Given the description of an element on the screen output the (x, y) to click on. 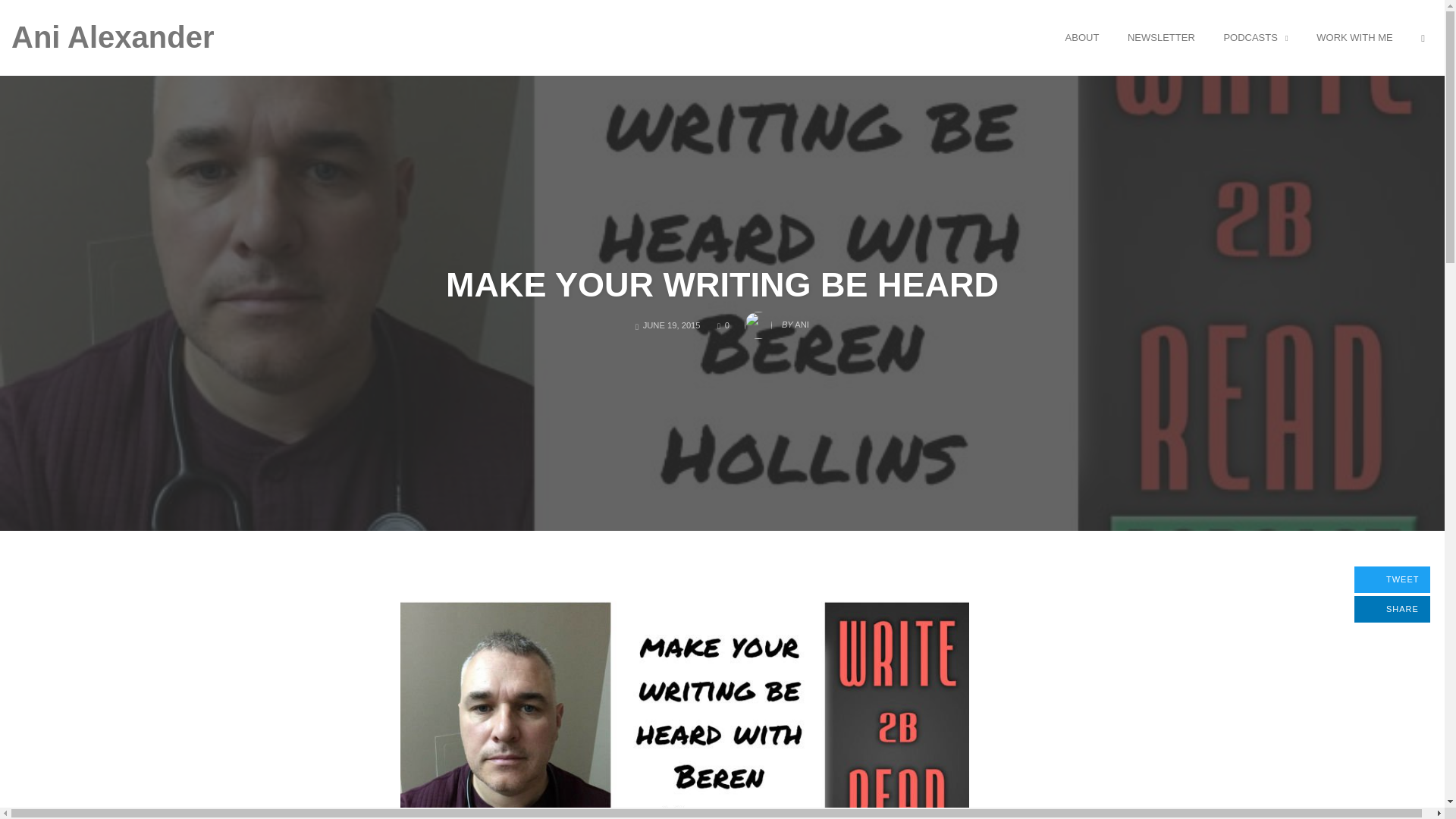
OPEN SEARCH FORM (1422, 37)
BY ANI (776, 320)
ABOUT (1082, 37)
Ani Alexander (112, 36)
MAKE YOUR WRITING BE HEARD (721, 284)
PODCASTS (1254, 37)
NEWSLETTER (1161, 37)
WORK WITH ME (1391, 609)
